Given the description of an element on the screen output the (x, y) to click on. 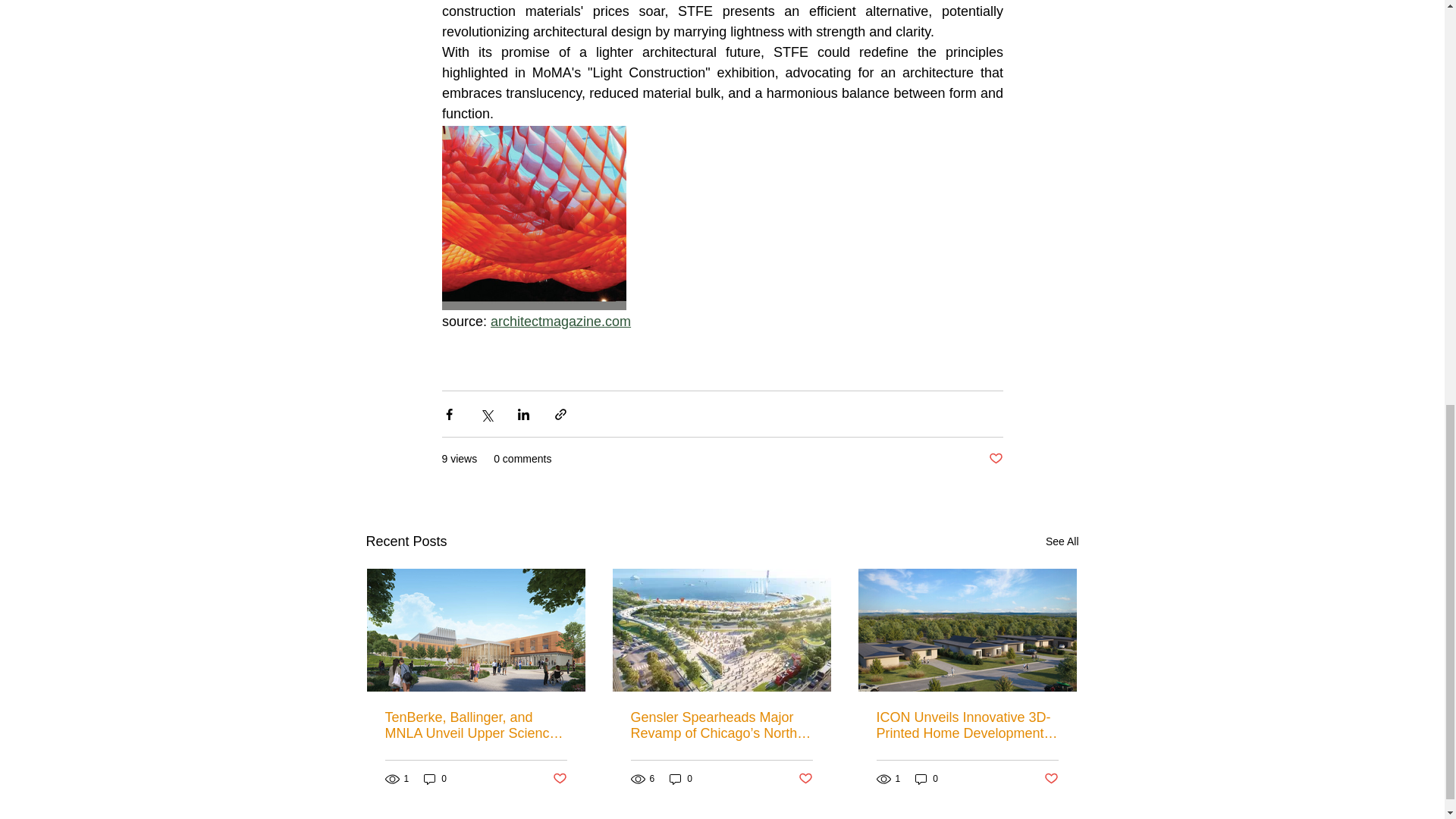
0 (435, 779)
0 (681, 779)
architectmagazine.com (560, 321)
See All (1061, 541)
Post not marked as liked (804, 778)
Post not marked as liked (995, 458)
0 (926, 779)
Post not marked as liked (558, 778)
Post not marked as liked (1050, 778)
